Given the description of an element on the screen output the (x, y) to click on. 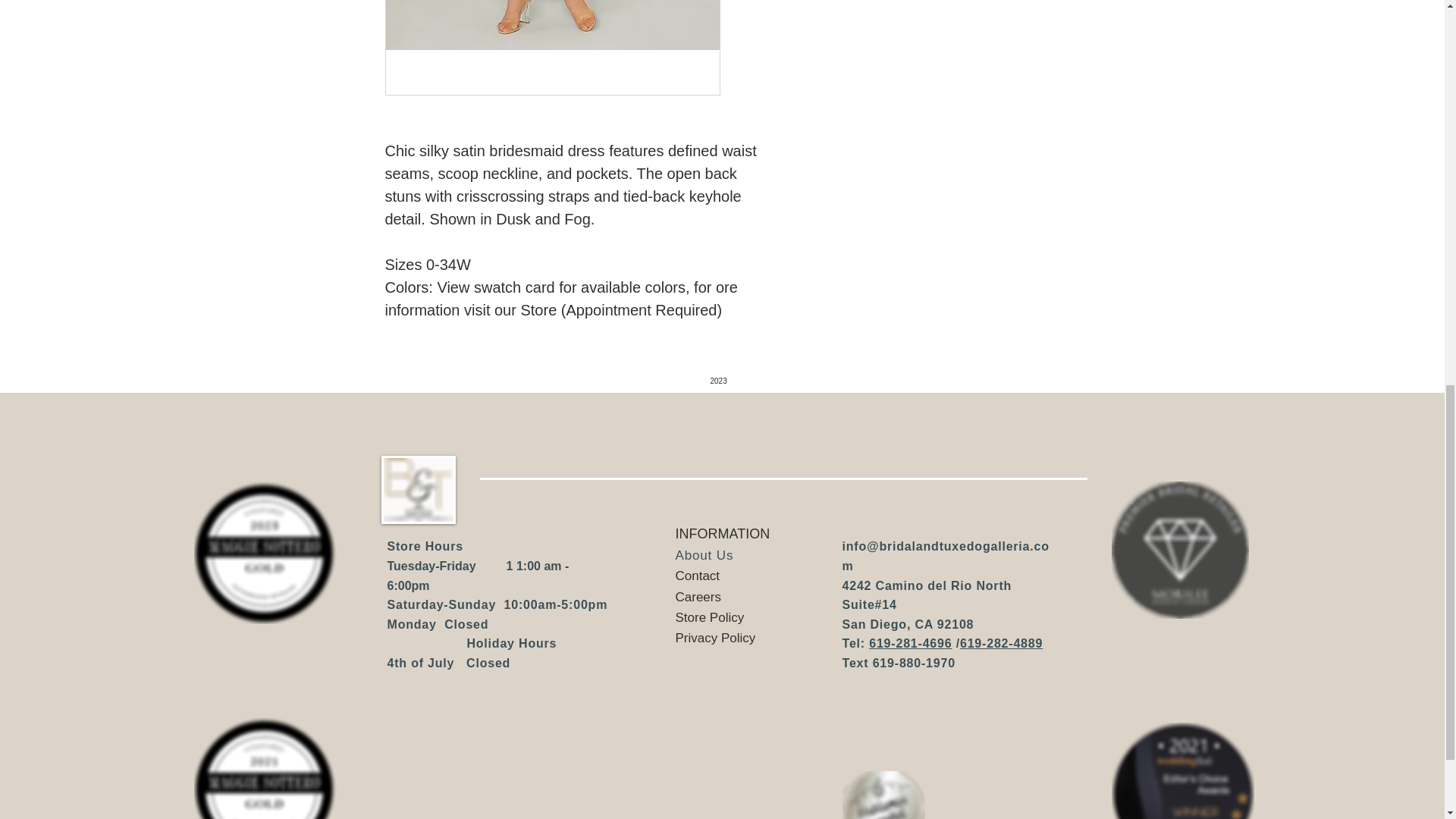
Maggie Gold 23.png (264, 552)
Top Bridal Stores in San Diego (1182, 770)
